Given the description of an element on the screen output the (x, y) to click on. 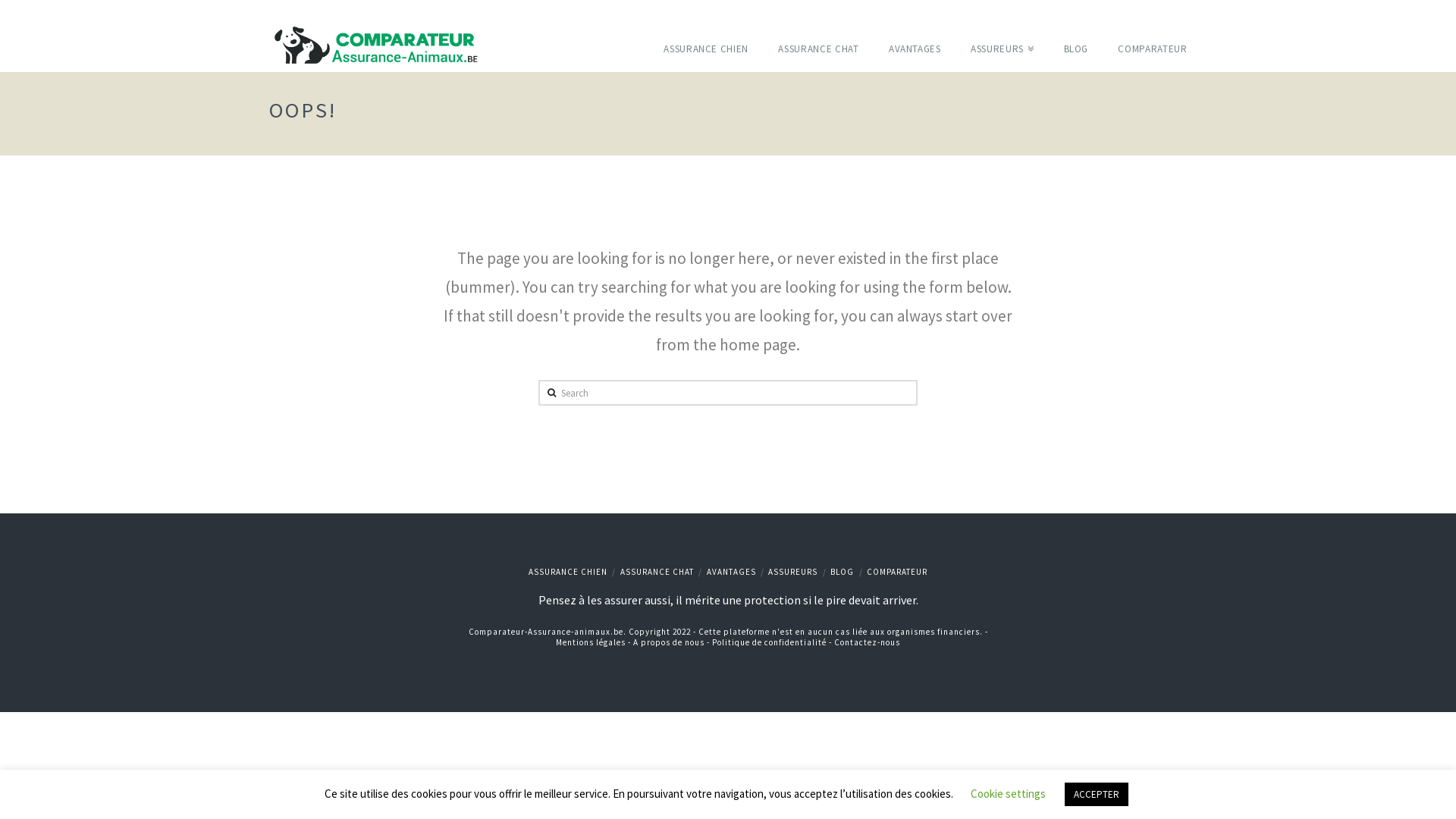
AVANTAGES Element type: text (731, 571)
A propos de nous Element type: text (668, 642)
Contactez-nous Element type: text (867, 642)
BLOG Element type: text (1075, 32)
COMPARATEUR Element type: text (1144, 32)
ASSUREURS Element type: text (792, 571)
ASSUREURS Element type: text (1001, 32)
Cookie settings Element type: text (1007, 793)
ASSURANCE CHAT Element type: text (656, 571)
BLOG Element type: text (841, 571)
AVANTAGES Element type: text (914, 32)
ASSURANCE CHIEN Element type: text (567, 571)
ASSURANCE CHAT Element type: text (817, 32)
ASSURANCE CHIEN Element type: text (705, 32)
ACCEPTER Element type: text (1096, 794)
COMPARATEUR Element type: text (896, 571)
